Given the description of an element on the screen output the (x, y) to click on. 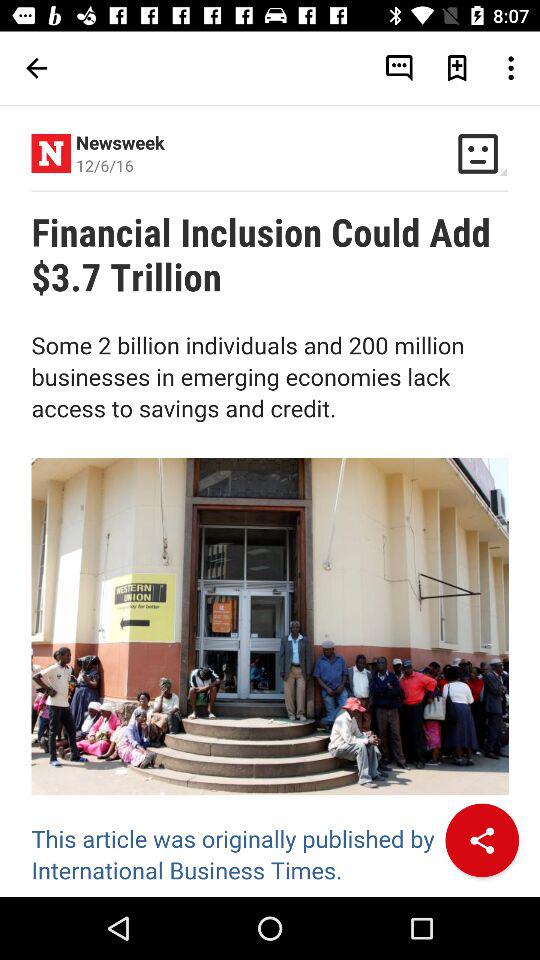
select the icon right to left arrow at top right (399, 67)
click on the button which is next to the comment button (457, 67)
click on the button which is next to the newsweek (478, 152)
select the icon below the three dots button on the web page (478, 152)
click on the message icon (399, 67)
click on the share button (482, 840)
